Given the description of an element on the screen output the (x, y) to click on. 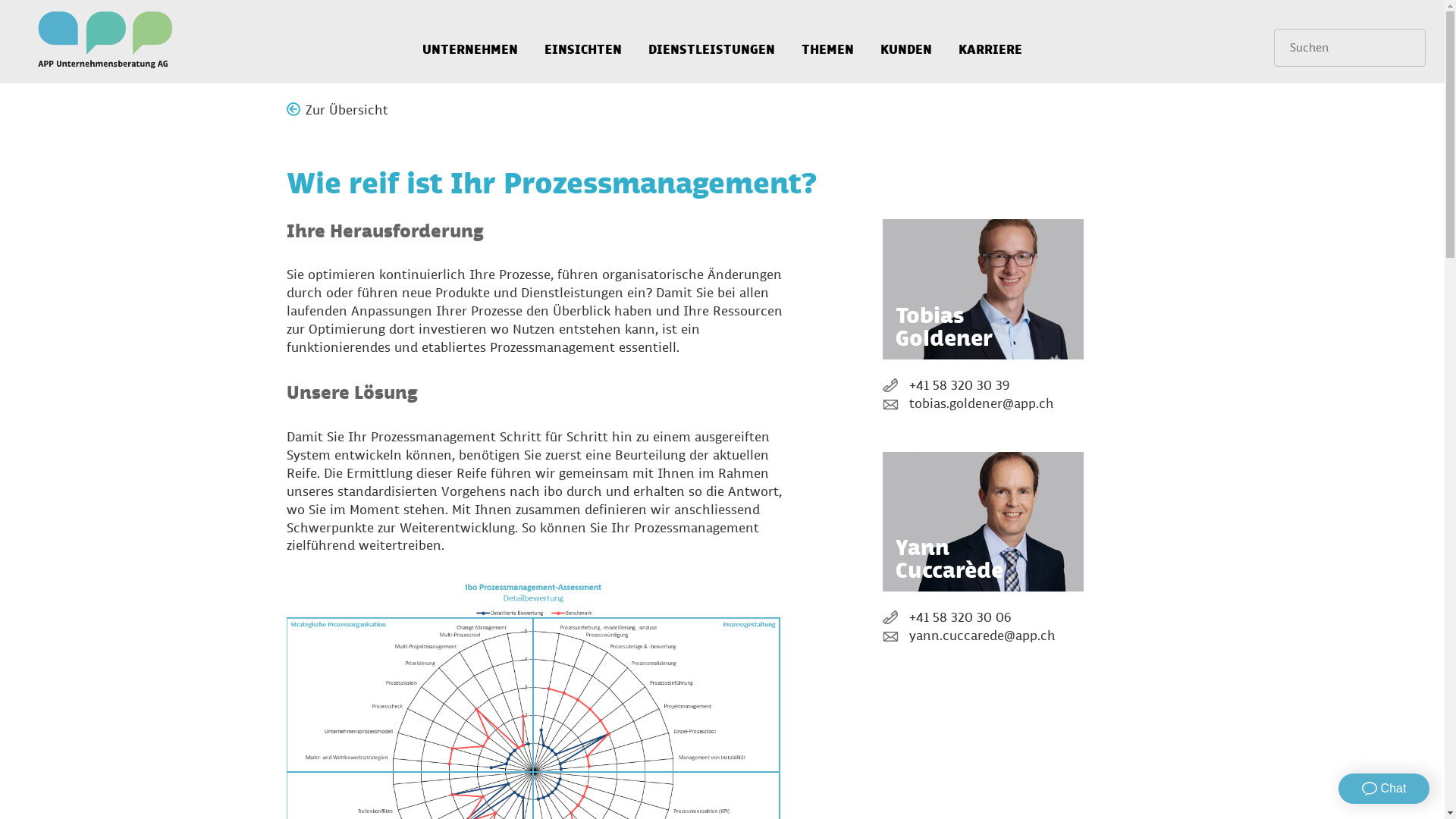
+41 58 320 30 06 Element type: text (982, 618)
+41 58 320 30 39 Element type: text (982, 386)
EINSICHTEN Element type: text (583, 41)
UNTERNEHMEN Element type: text (470, 41)
KUNDEN Element type: text (906, 41)
tobias.goldener@app.ch Element type: text (982, 404)
THEMEN Element type: text (827, 41)
KARRIERE Element type: text (990, 41)
Direkt zum Inhalt Element type: text (53, 0)
DIENSTLEISTUNGEN Element type: text (711, 41)
yann.cuccarede@app.ch Element type: text (982, 636)
